Given the description of an element on the screen output the (x, y) to click on. 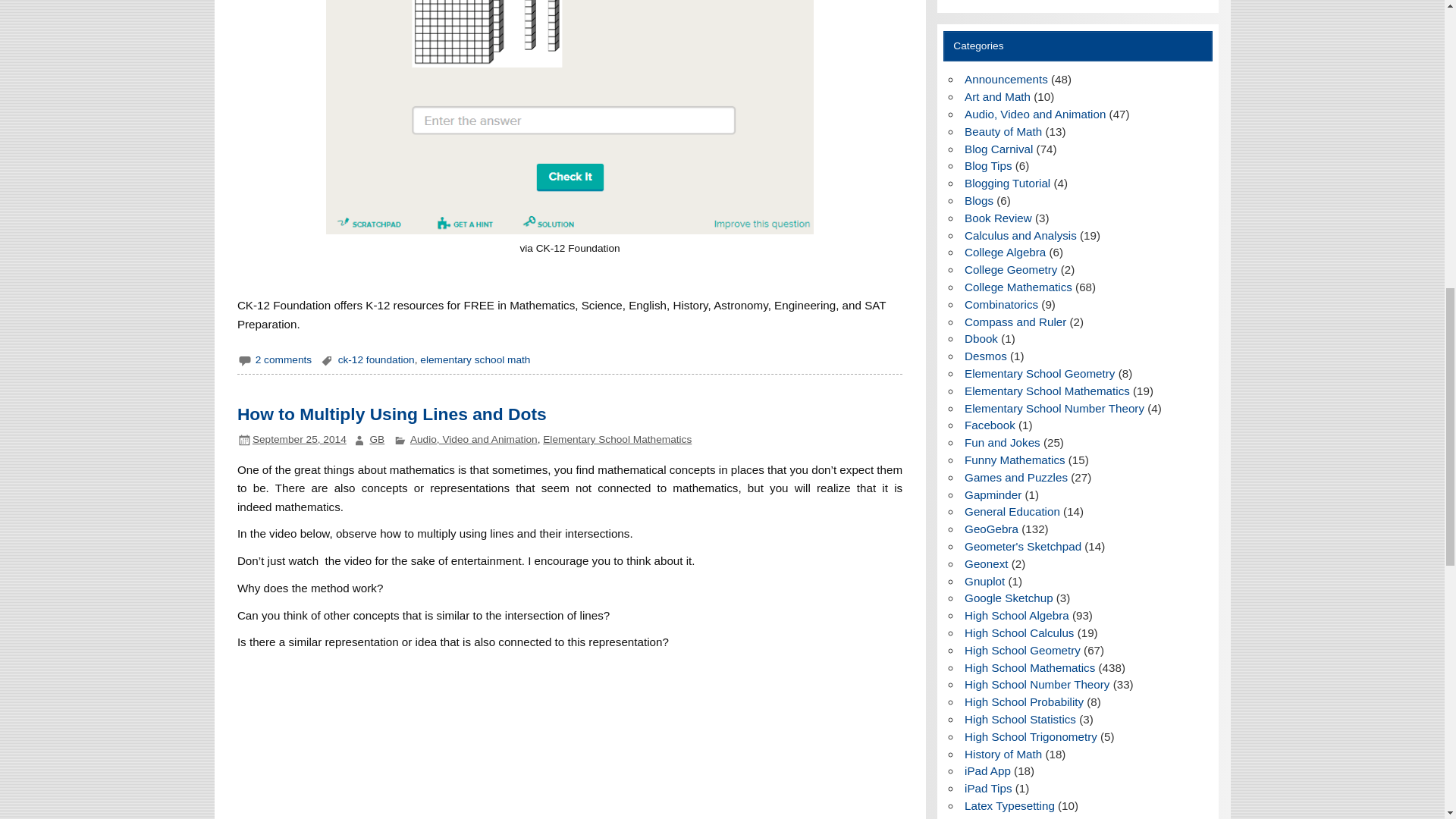
elementary school math (474, 359)
ck-12 foundation (375, 359)
9:18 pm (298, 439)
How to Multiply Using Lines and Dots (392, 414)
View all posts by GB (376, 439)
2 comments (283, 359)
